Given the description of an element on the screen output the (x, y) to click on. 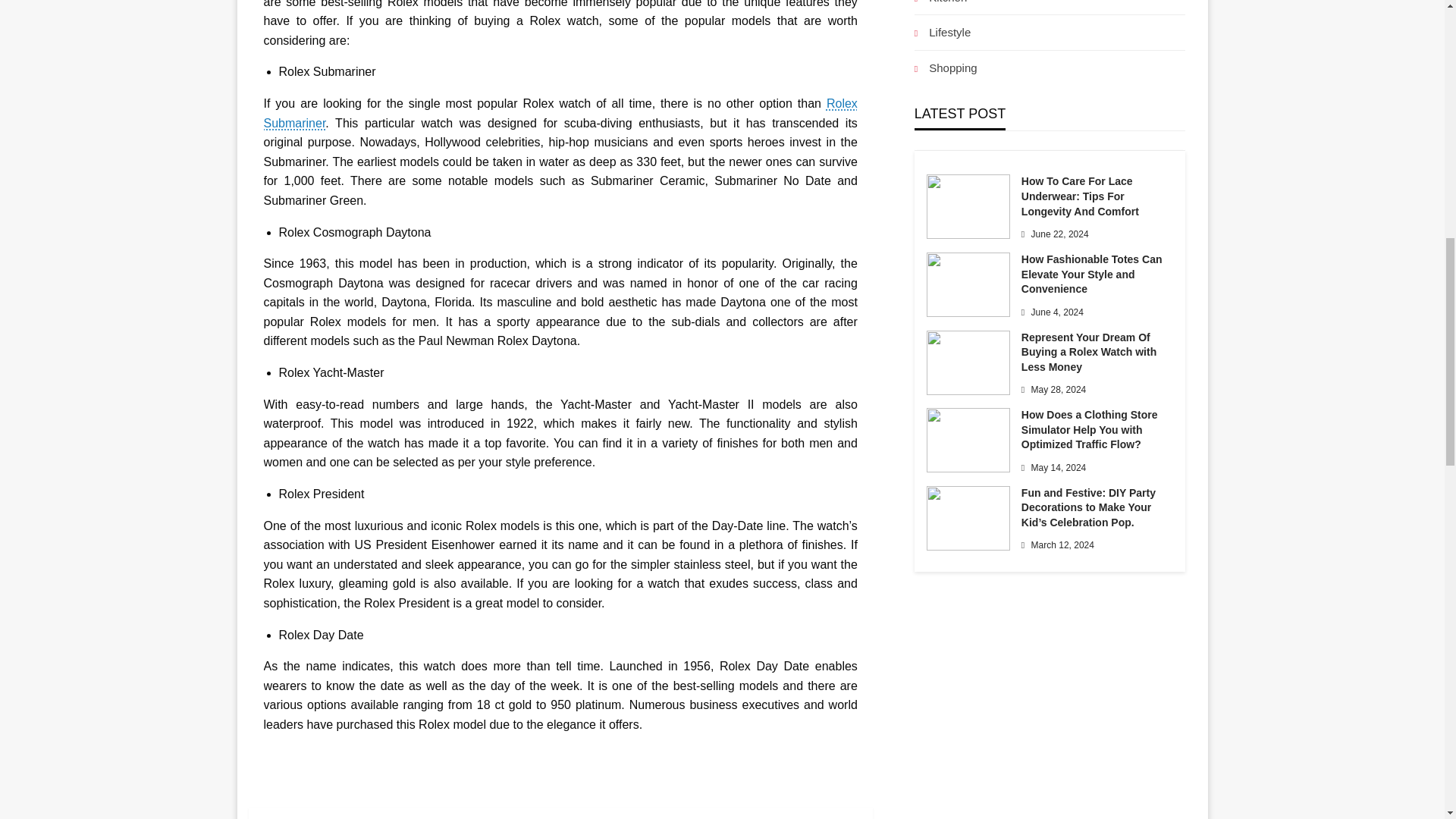
Rolex Submariner (560, 113)
